Given the description of an element on the screen output the (x, y) to click on. 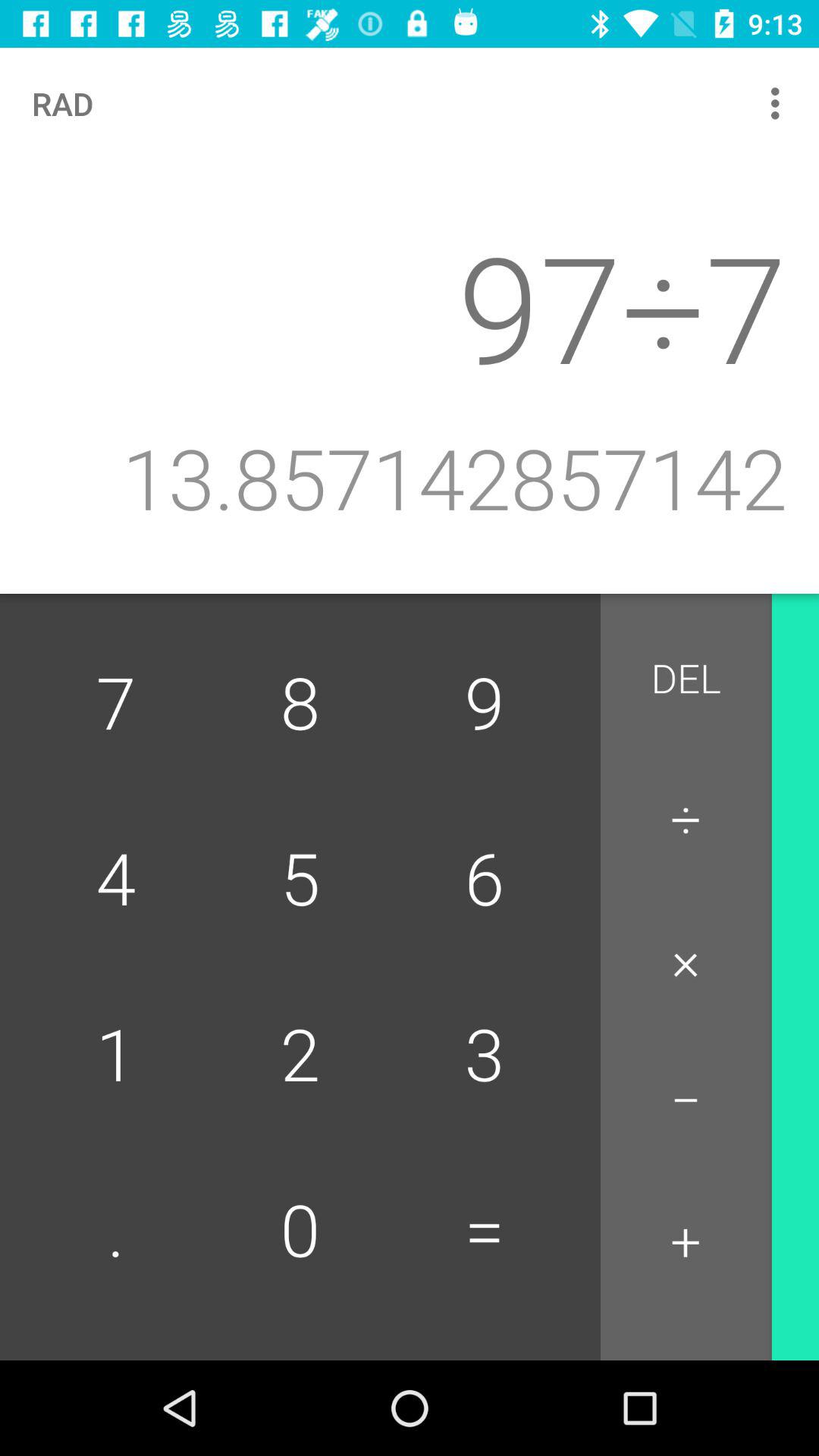
flip until 0 icon (300, 1232)
